Given the description of an element on the screen output the (x, y) to click on. 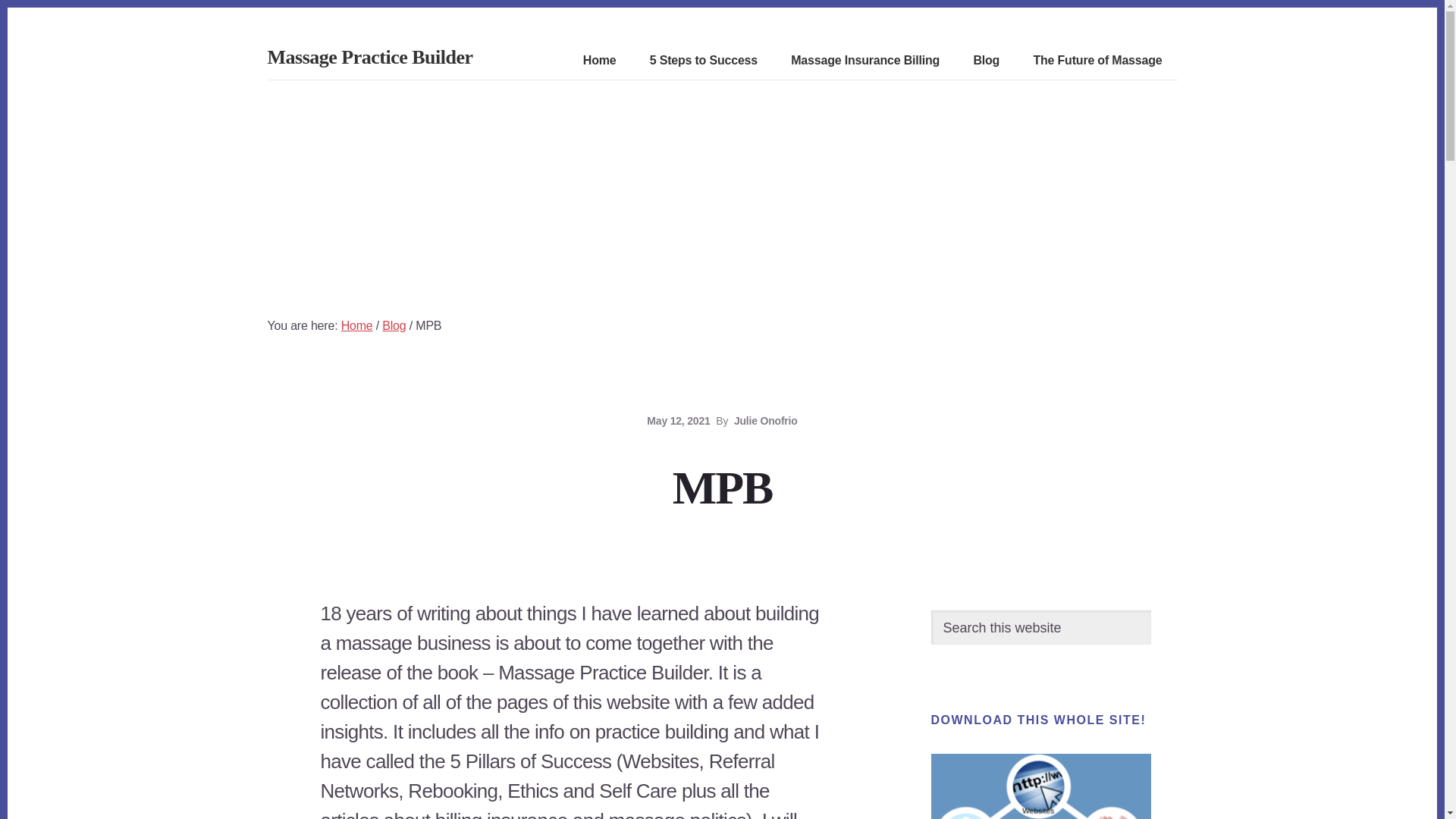
Blog (986, 61)
Julie Onofrio (765, 420)
The Future of Massage (1096, 61)
Massage Insurance Billing (864, 61)
Massage Practice Builder (368, 56)
5 Steps to Success (703, 61)
Blog (393, 325)
Home (356, 325)
Home (599, 61)
